Given the description of an element on the screen output the (x, y) to click on. 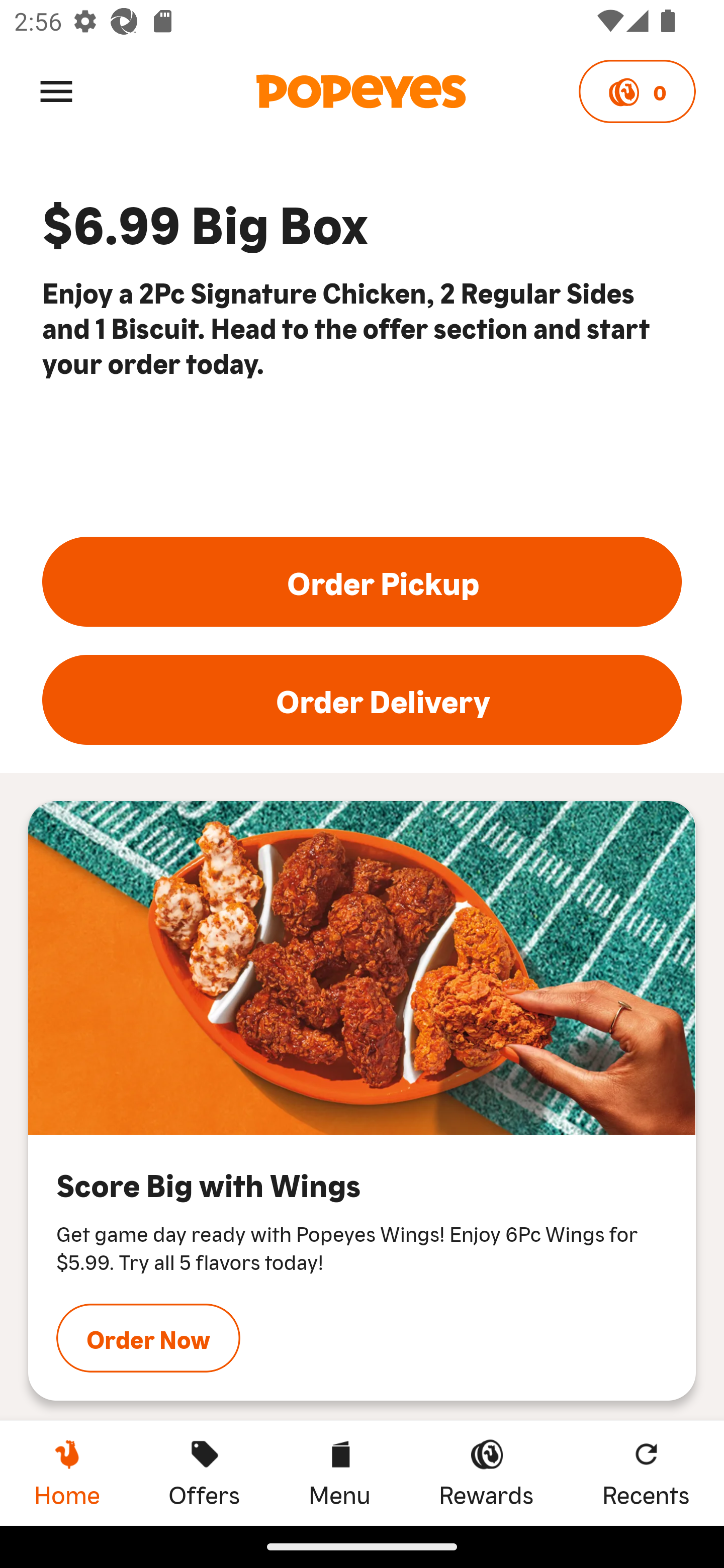
Menu  (56, 90)
0 Points 0 (636, 91)
Order Pickup (361, 581)
Order Delivery (361, 699)
Score Big with Wings (361, 968)
Order Now (148, 1337)
Home, current page Home Home, current page (66, 1472)
Offers Offers Offers (203, 1472)
Menu Menu Menu (339, 1472)
Rewards Rewards Rewards (486, 1472)
Recents Recents Recents (646, 1472)
